Given the description of an element on the screen output the (x, y) to click on. 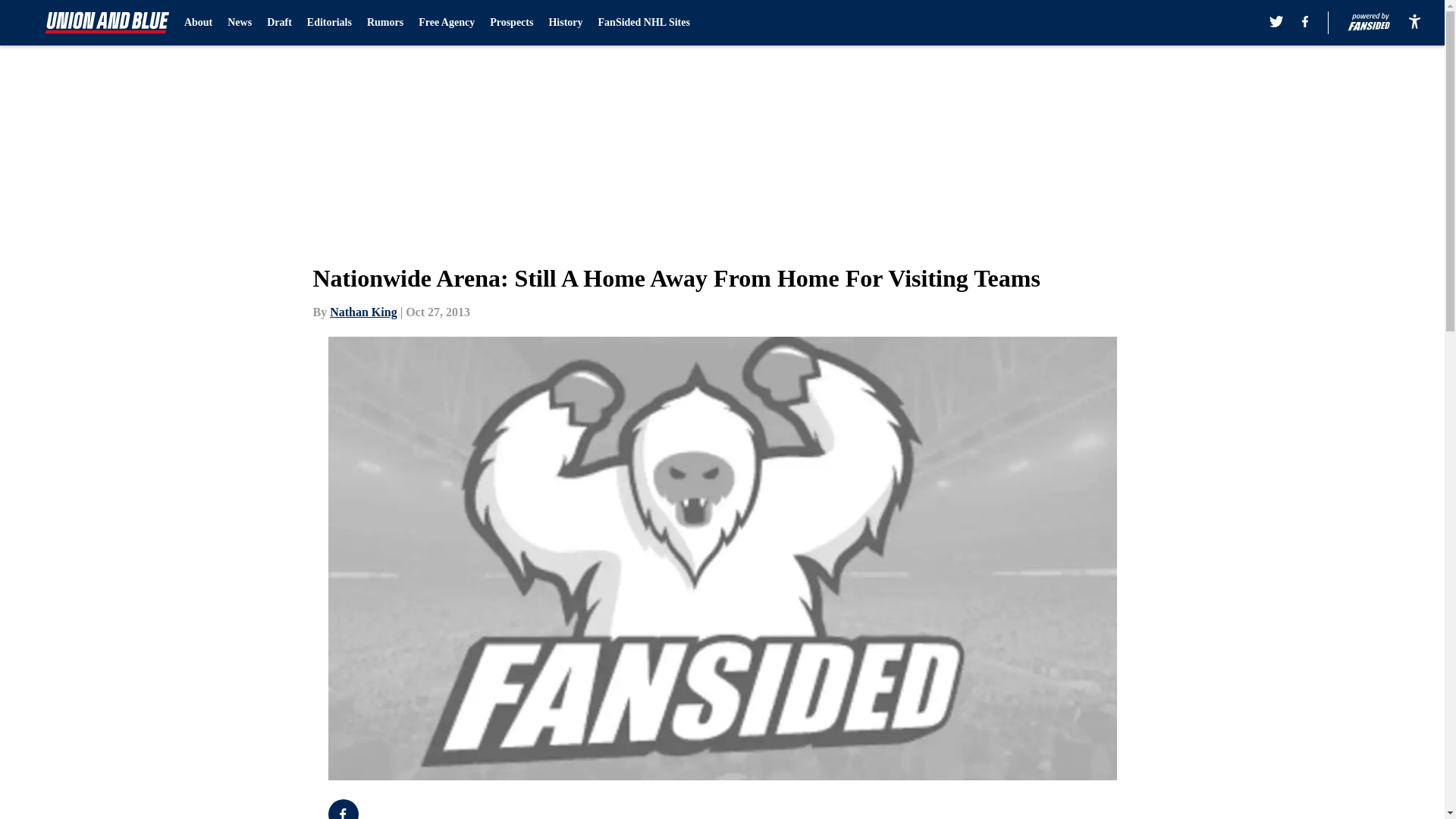
FanSided NHL Sites (644, 22)
Nathan King (363, 311)
Draft (279, 22)
News (239, 22)
Editorials (329, 22)
Free Agency (446, 22)
History (565, 22)
Prospects (510, 22)
Rumors (384, 22)
About (198, 22)
